Given the description of an element on the screen output the (x, y) to click on. 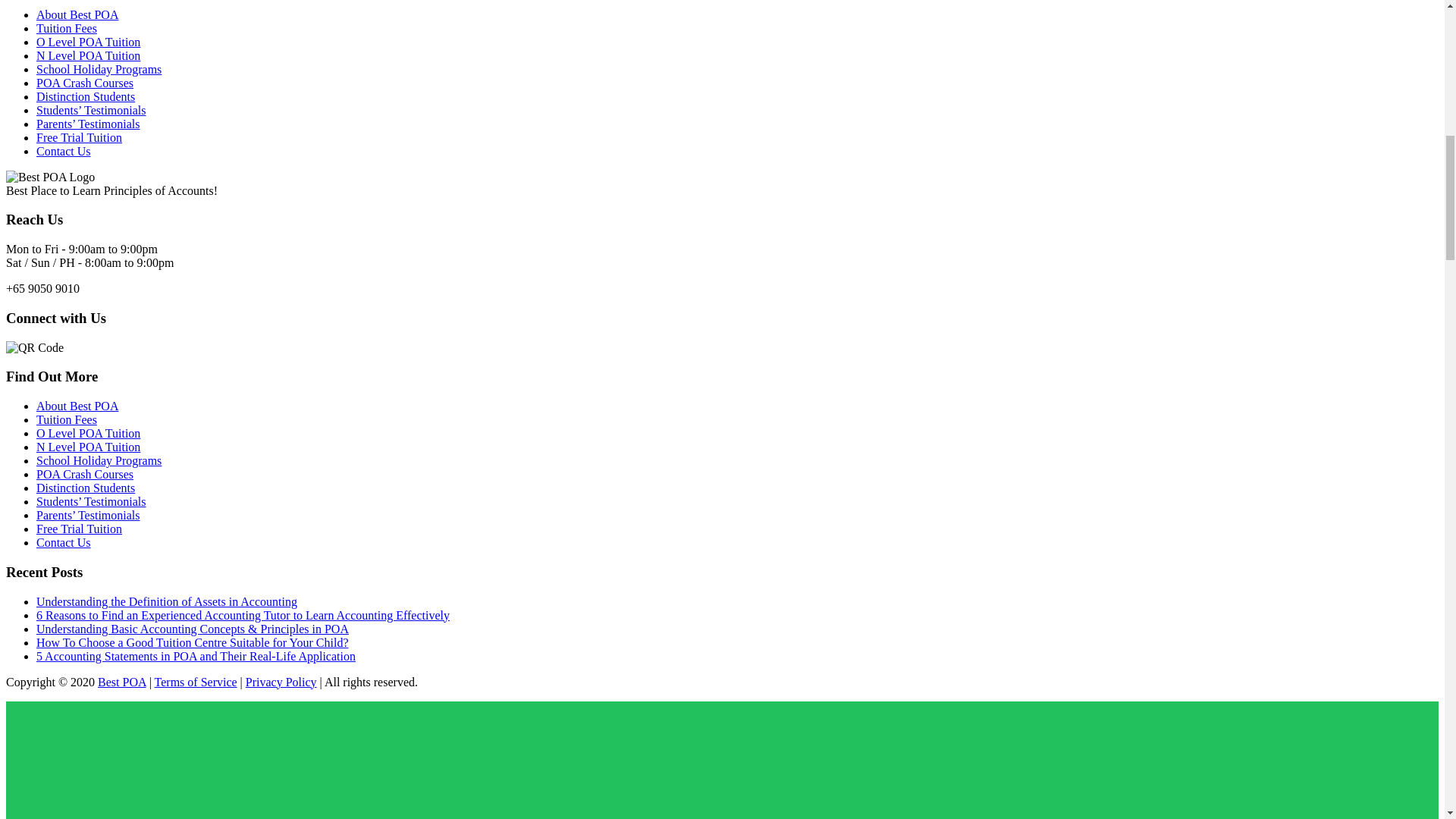
About Best POA (76, 14)
POA Crash Courses (84, 82)
Contact Us (63, 151)
O Level POA Tuition (87, 42)
Tuition Fees (66, 28)
N Level POA Tuition (87, 55)
Free Trial Tuition (79, 137)
Distinction Students (85, 96)
School Holiday Programs (98, 69)
